Given the description of an element on the screen output the (x, y) to click on. 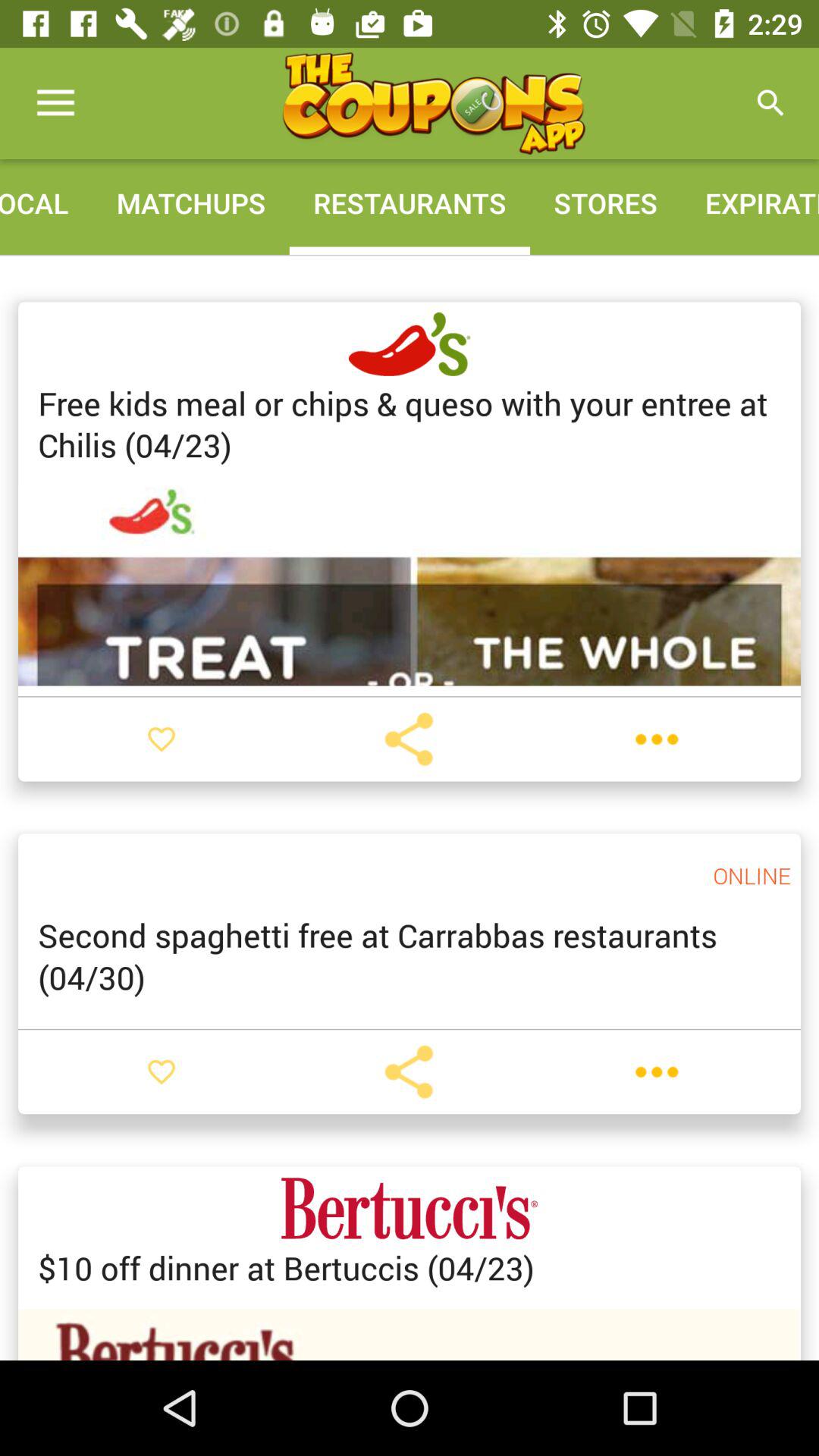
choose item below the online item (409, 955)
